Given the description of an element on the screen output the (x, y) to click on. 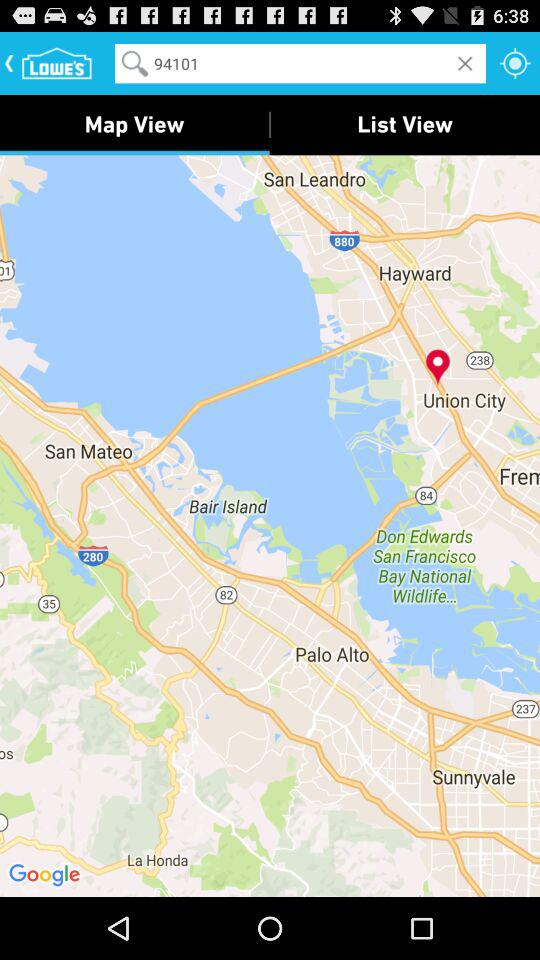
tap the list view (405, 124)
